Given the description of an element on the screen output the (x, y) to click on. 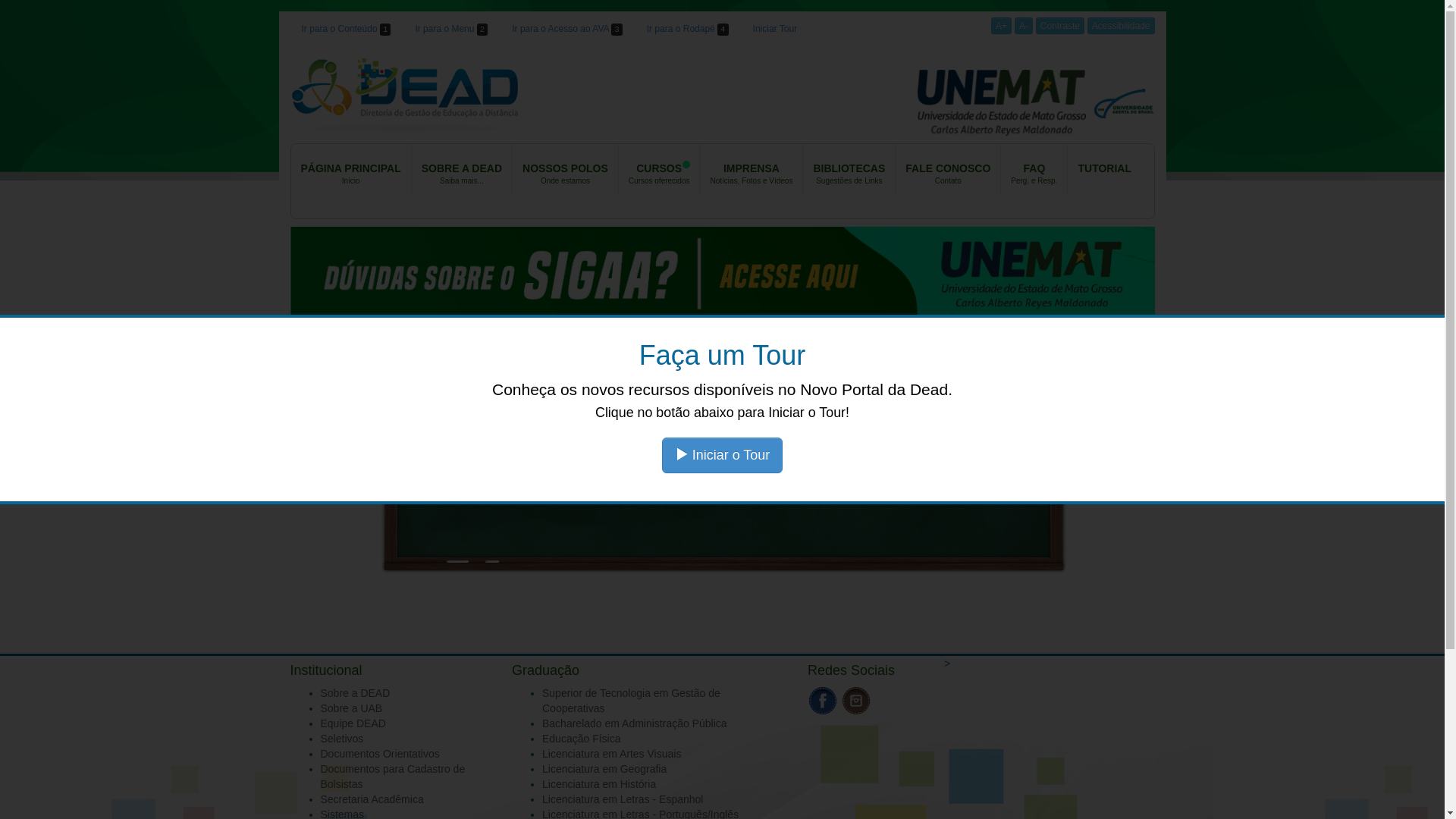
Sobre a DEAD Element type: text (354, 693)
Ir para o Acesso ao AVA 3 Element type: text (566, 29)
NOSSOS POLOS
Onde estamos Element type: text (565, 169)
Sobre a UAB Element type: text (351, 708)
Iniciar Tour Element type: text (774, 29)
Iniciar o Tour Element type: text (722, 455)
A+ Element type: text (1001, 25)
Documentos para Cadastro de Bolsistas Element type: text (392, 776)
TUTORIAL
  Element type: text (1104, 169)
CURSOS
Cursos oferecidos Element type: text (659, 169)
Contraste Element type: text (1059, 25)
SOBRE A DEAD
Saiba mais... Element type: text (461, 169)
Documentos Orientativos Element type: text (379, 753)
Seletivos Element type: text (341, 738)
FALE CONOSCO
Contato Element type: text (948, 169)
Licenciatura em Letras - Espanhol Element type: text (622, 799)
Acessibilidade Element type: text (1120, 25)
Licenciatura em Geografia Element type: text (604, 768)
Equipe DEAD Element type: text (352, 723)
FAQ
Perg. e Resp. Element type: text (1034, 169)
A- Element type: text (1023, 25)
Ir para o Menu 2 Element type: text (450, 29)
Licenciatura em Artes Visuais Element type: text (611, 753)
